Given the description of an element on the screen output the (x, y) to click on. 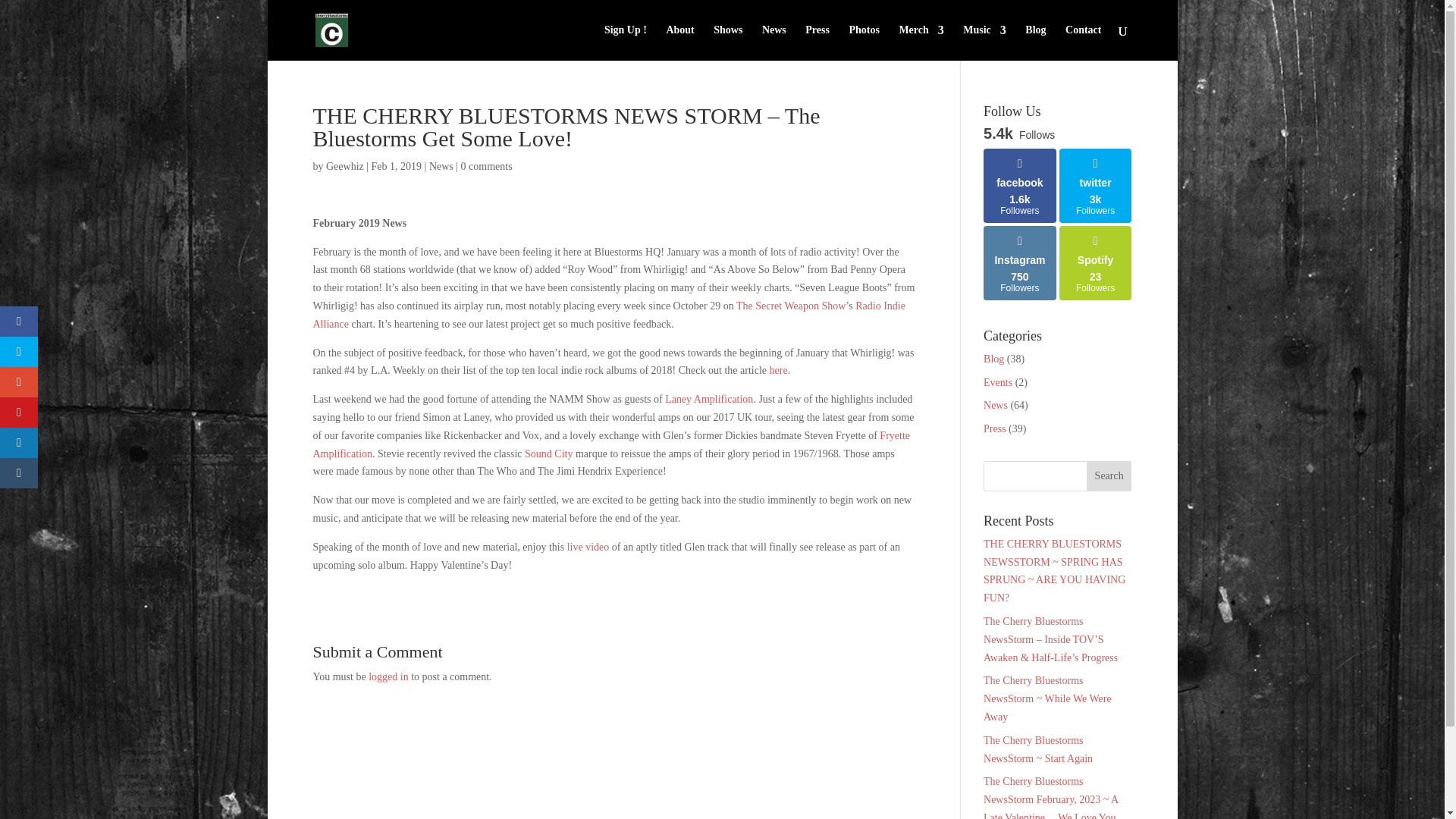
Radio Indie Alliance (608, 315)
0 comments (486, 165)
Search (1109, 476)
here (778, 369)
Geewhiz (345, 165)
Posts by Geewhiz (345, 165)
Sound City (548, 453)
Contact (1082, 42)
Laney Amplification (708, 398)
News (440, 165)
